Given the description of an element on the screen output the (x, y) to click on. 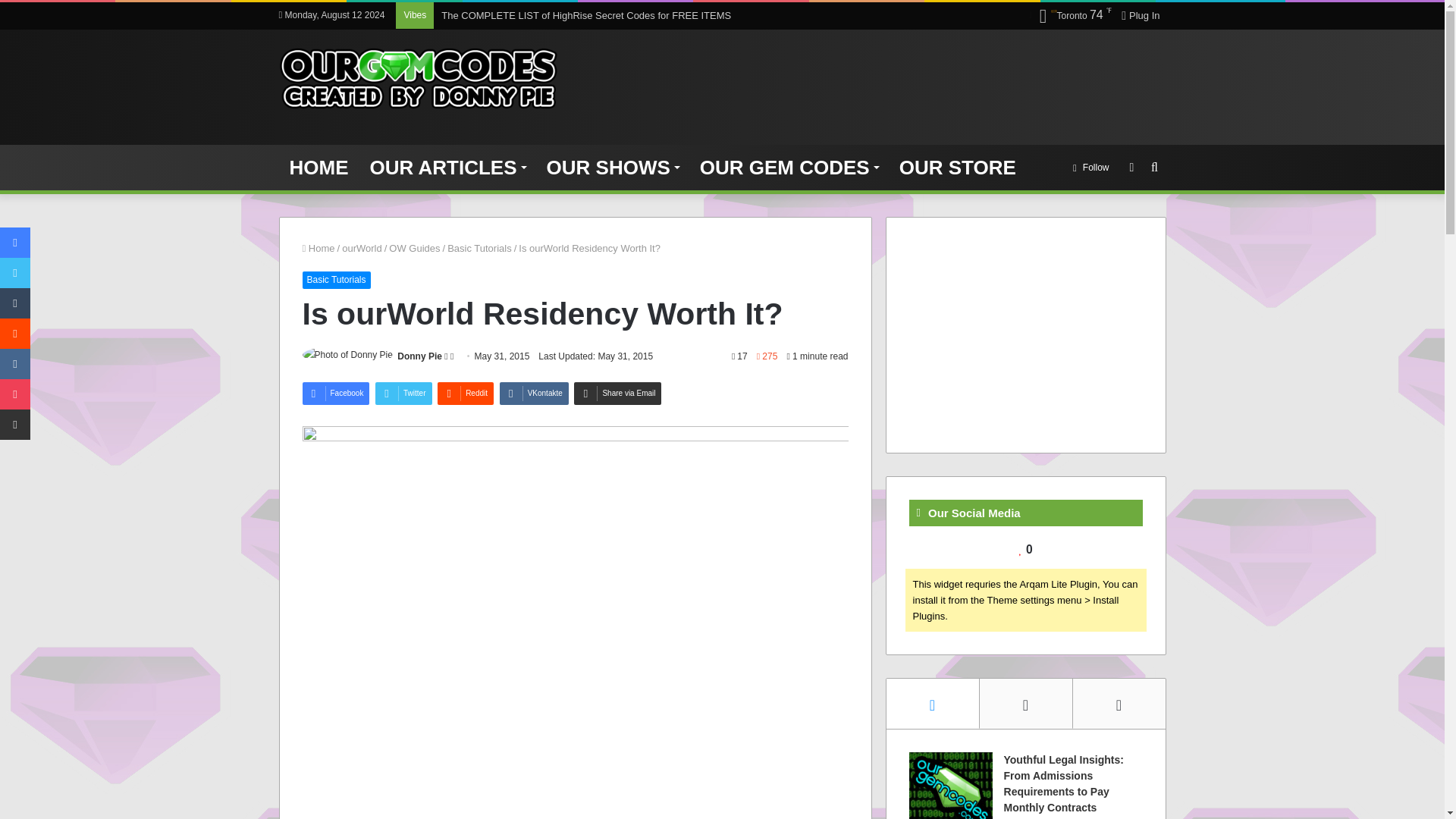
Basic Tutorials (335, 279)
OUR SHOWS (611, 167)
Share via Email (617, 393)
Share via Email (617, 393)
The COMPLETE LIST of HighRise Secret Codes for FREE ITEMS (585, 15)
Follow (1090, 167)
VKontakte (534, 393)
Home (317, 247)
Donny Pie (419, 356)
OW Guides (413, 247)
